Given the description of an element on the screen output the (x, y) to click on. 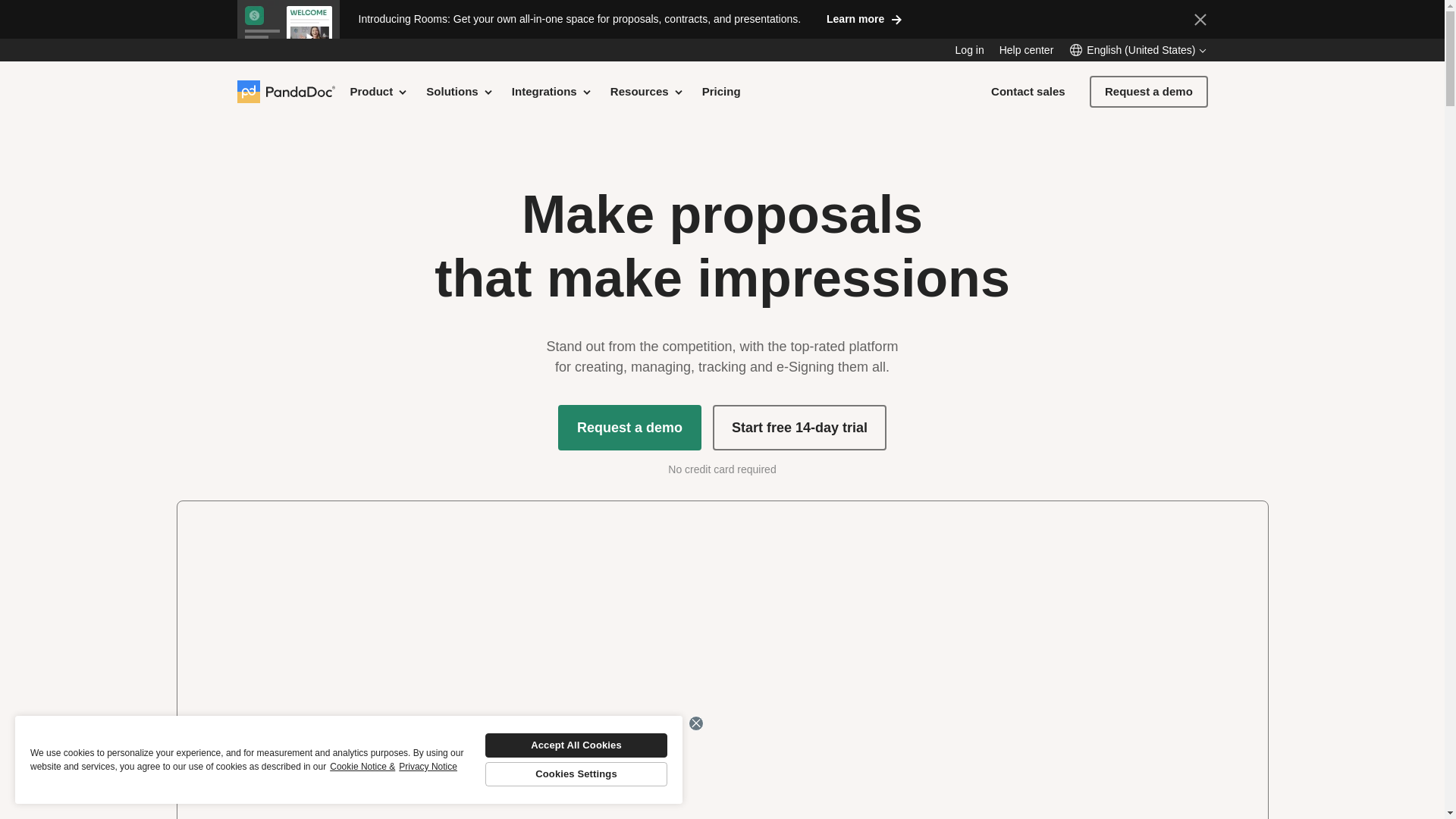
Product (379, 91)
Learn more (864, 18)
Solutions (459, 91)
Help center (1026, 50)
Log in (969, 50)
